Given the description of an element on the screen output the (x, y) to click on. 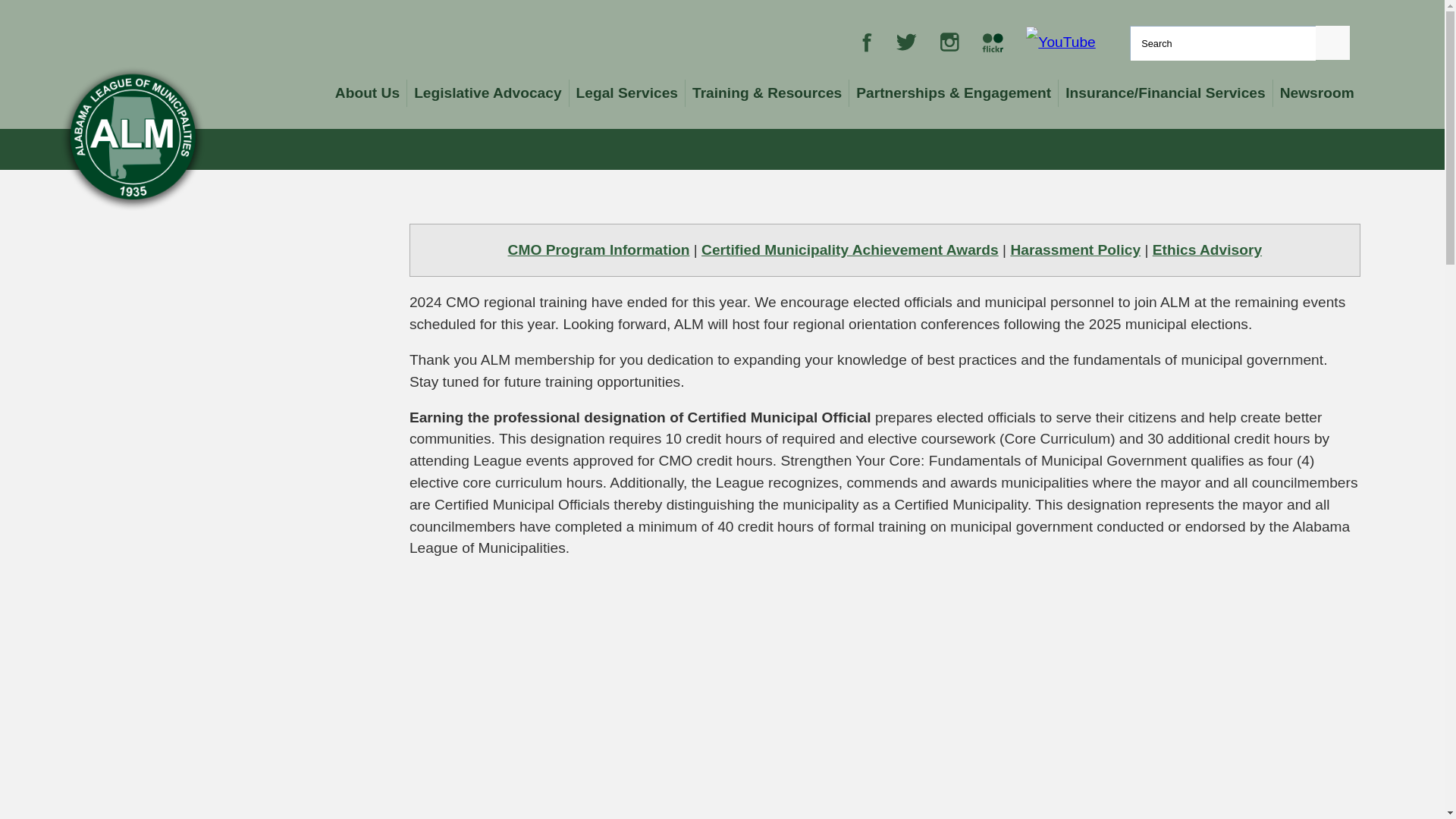
Facebook (866, 41)
Instagram (949, 41)
Flickr (992, 41)
Legislative Advocacy (488, 93)
Twitter (906, 41)
About Us (368, 93)
YouTube (1060, 41)
